Given the description of an element on the screen output the (x, y) to click on. 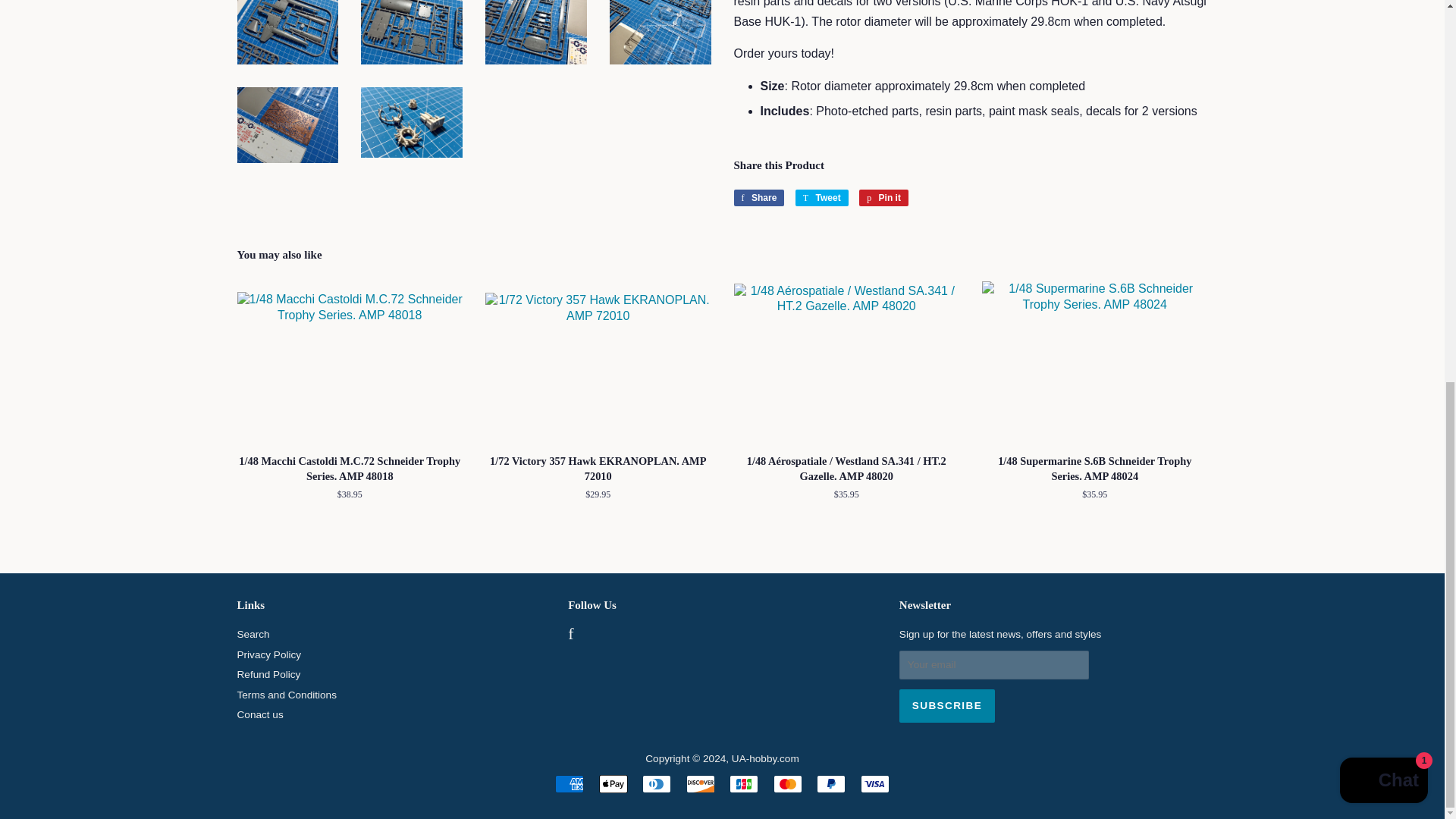
Visa (874, 783)
JCB (743, 783)
Discover (699, 783)
Share on Facebook (758, 197)
Pin on Pinterest (883, 197)
Shopify online store chat (1383, 68)
Tweet on Twitter (821, 197)
Apple Pay (612, 783)
Diners Club (656, 783)
PayPal (830, 783)
American Express (568, 783)
Subscribe (946, 705)
Mastercard (787, 783)
